Given the description of an element on the screen output the (x, y) to click on. 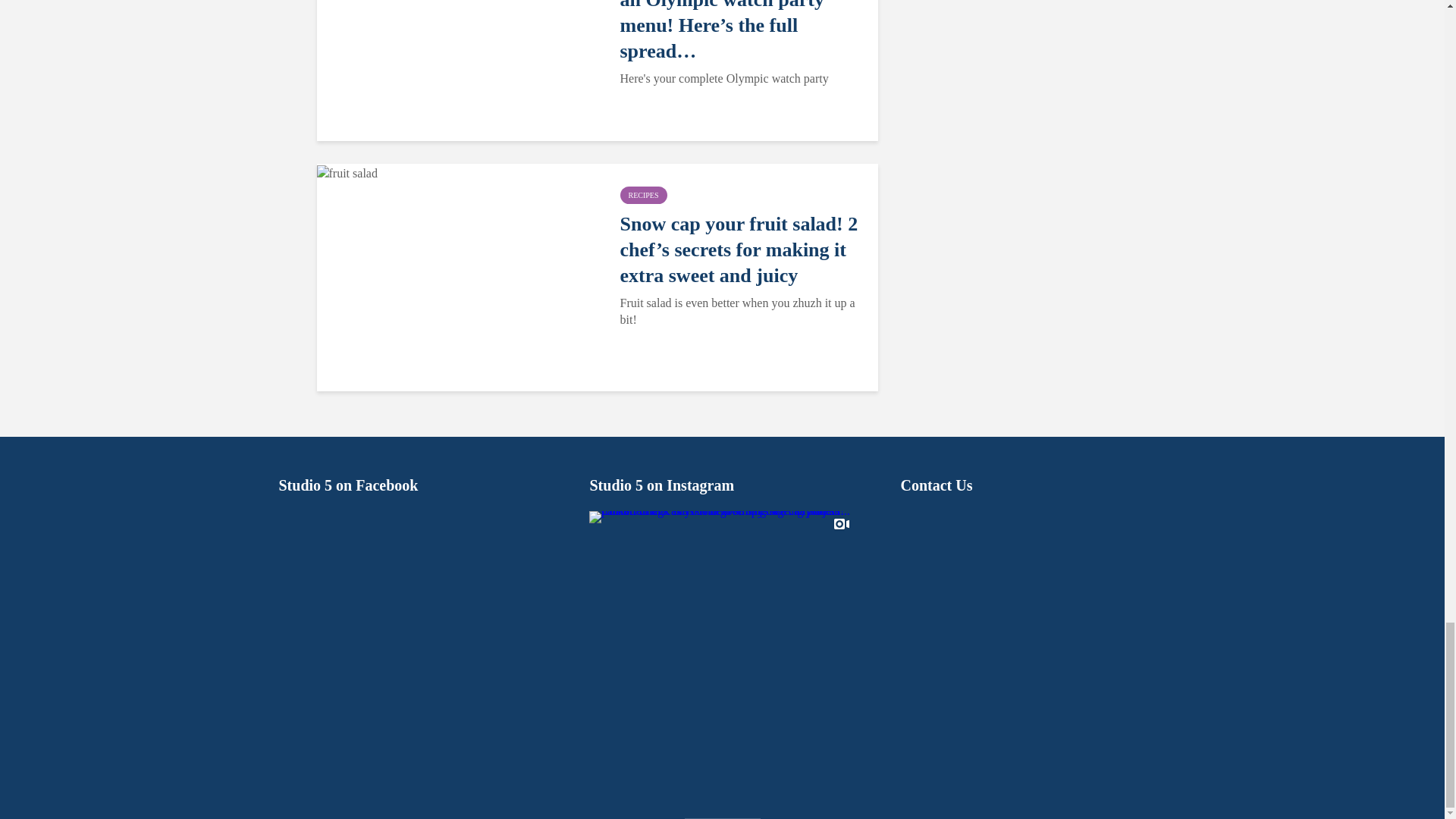
RECIPES (643, 194)
